Given the description of an element on the screen output the (x, y) to click on. 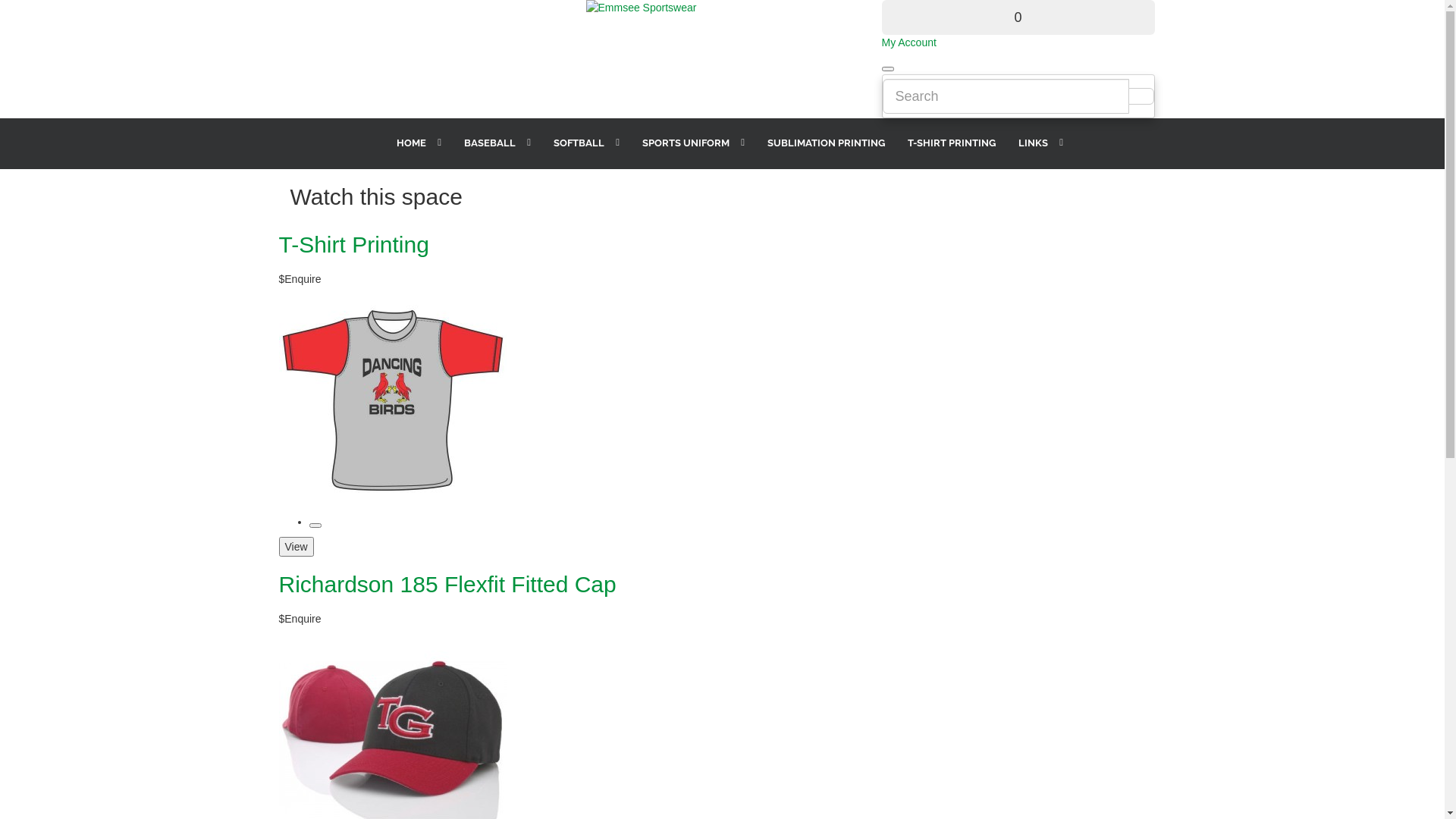
Compare this Product Element type: hover (315, 525)
My Account Element type: text (908, 42)
T-Shirt Printing Element type: text (354, 244)
Emmsee Sportswear Element type: hover (721, 7)
HOME Element type: text (411, 143)
Richardson 185 Flexfit Fitted Cap Element type: text (447, 583)
View Element type: text (296, 546)
0 Element type: text (1017, 17)
T-SHIRT PRINTING Element type: text (943, 143)
LINKS Element type: text (1032, 143)
SUBLIMATION PRINTING Element type: text (818, 143)
SOFTBALL Element type: text (578, 143)
BASEBALL Element type: text (489, 143)
SPORTS UNIFORM Element type: text (685, 143)
